Given the description of an element on the screen output the (x, y) to click on. 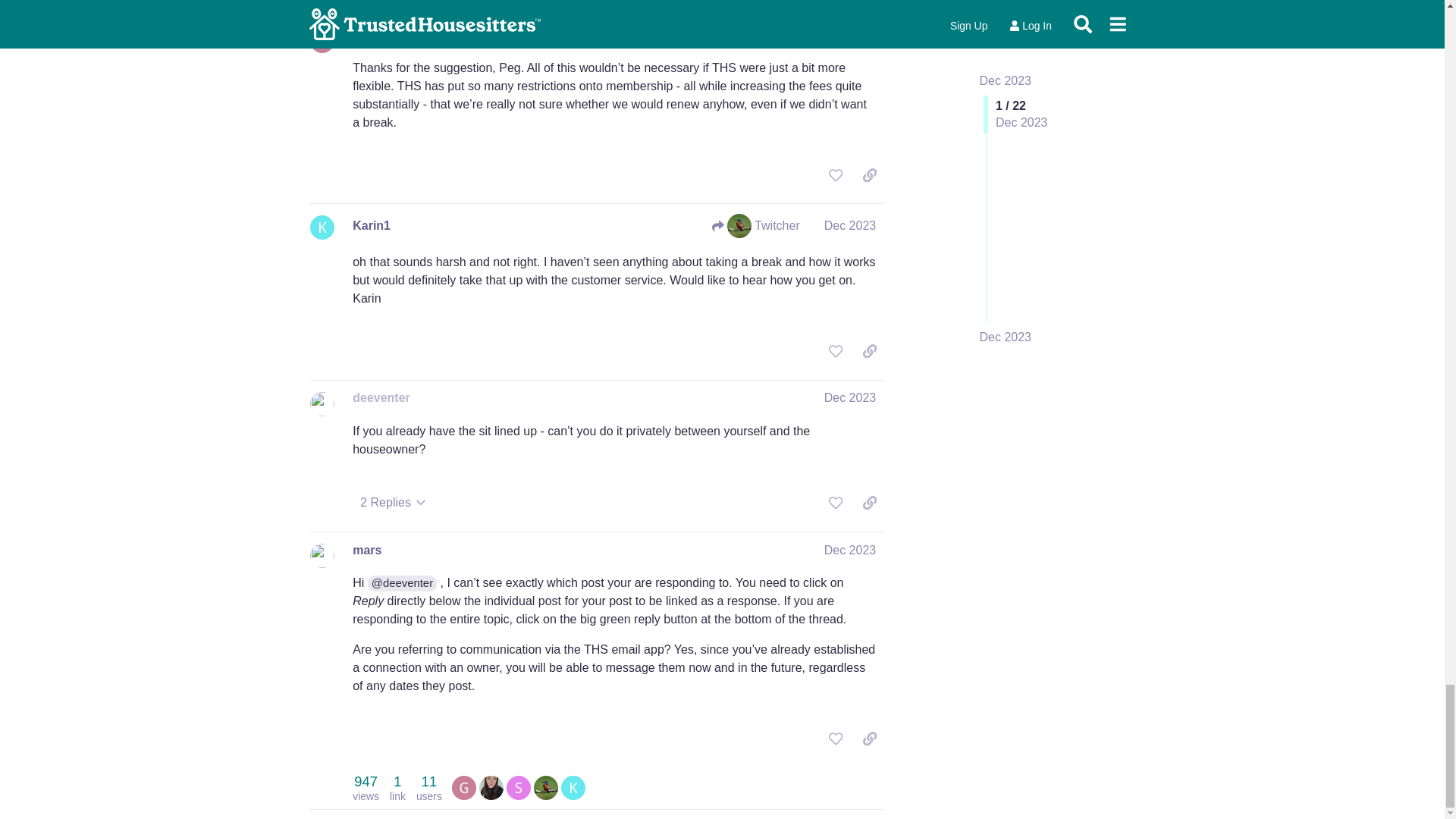
Silversitters (366, 788)
Silversitters (518, 787)
Jenny (428, 788)
Gretch (518, 787)
Twitcher (491, 787)
Gretch (463, 787)
Karin1 (545, 787)
Jenny (463, 787)
Karin1 (572, 787)
Twitcher (491, 787)
